Given the description of an element on the screen output the (x, y) to click on. 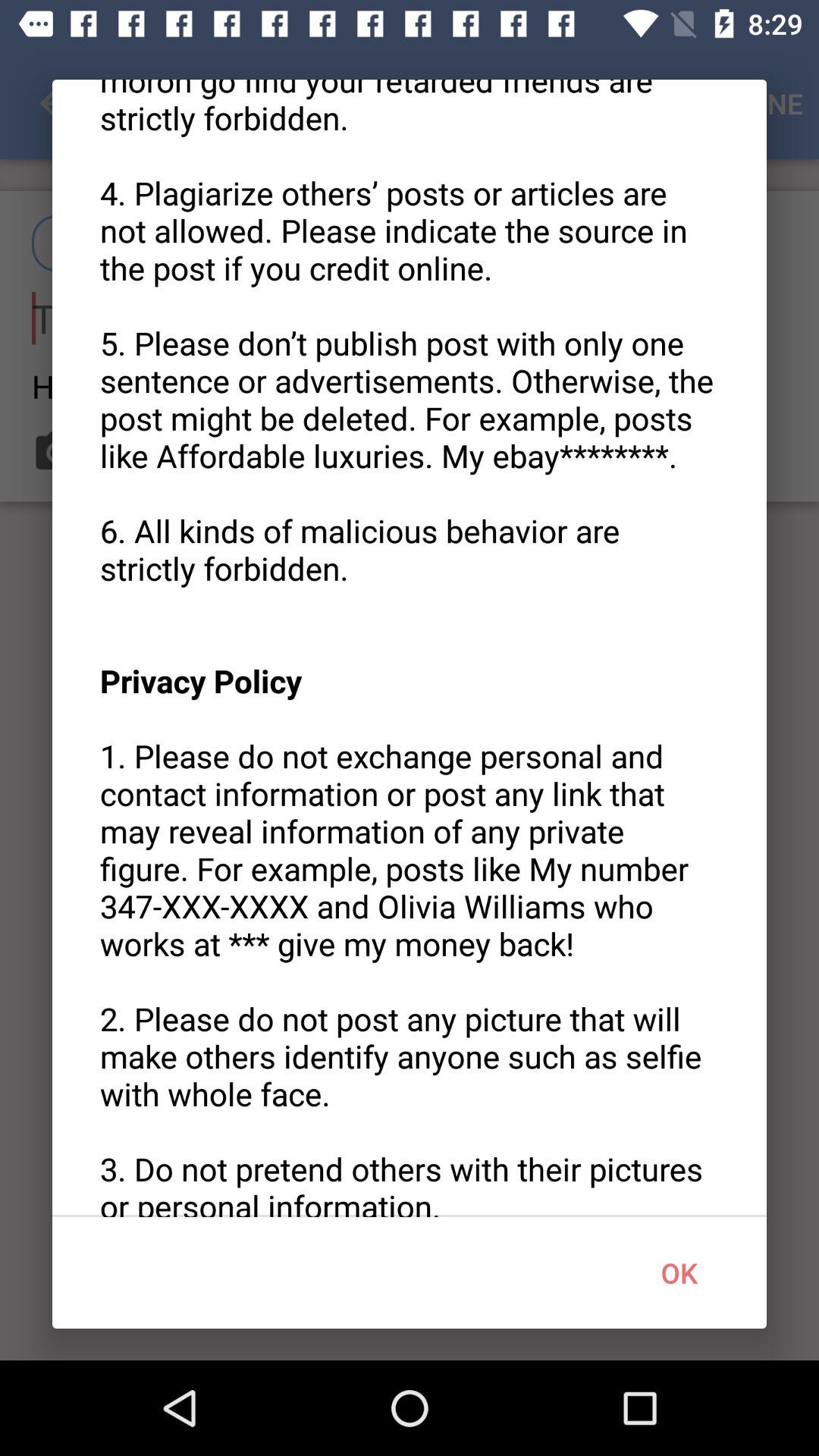
press the icon at the bottom right corner (678, 1272)
